Given the description of an element on the screen output the (x, y) to click on. 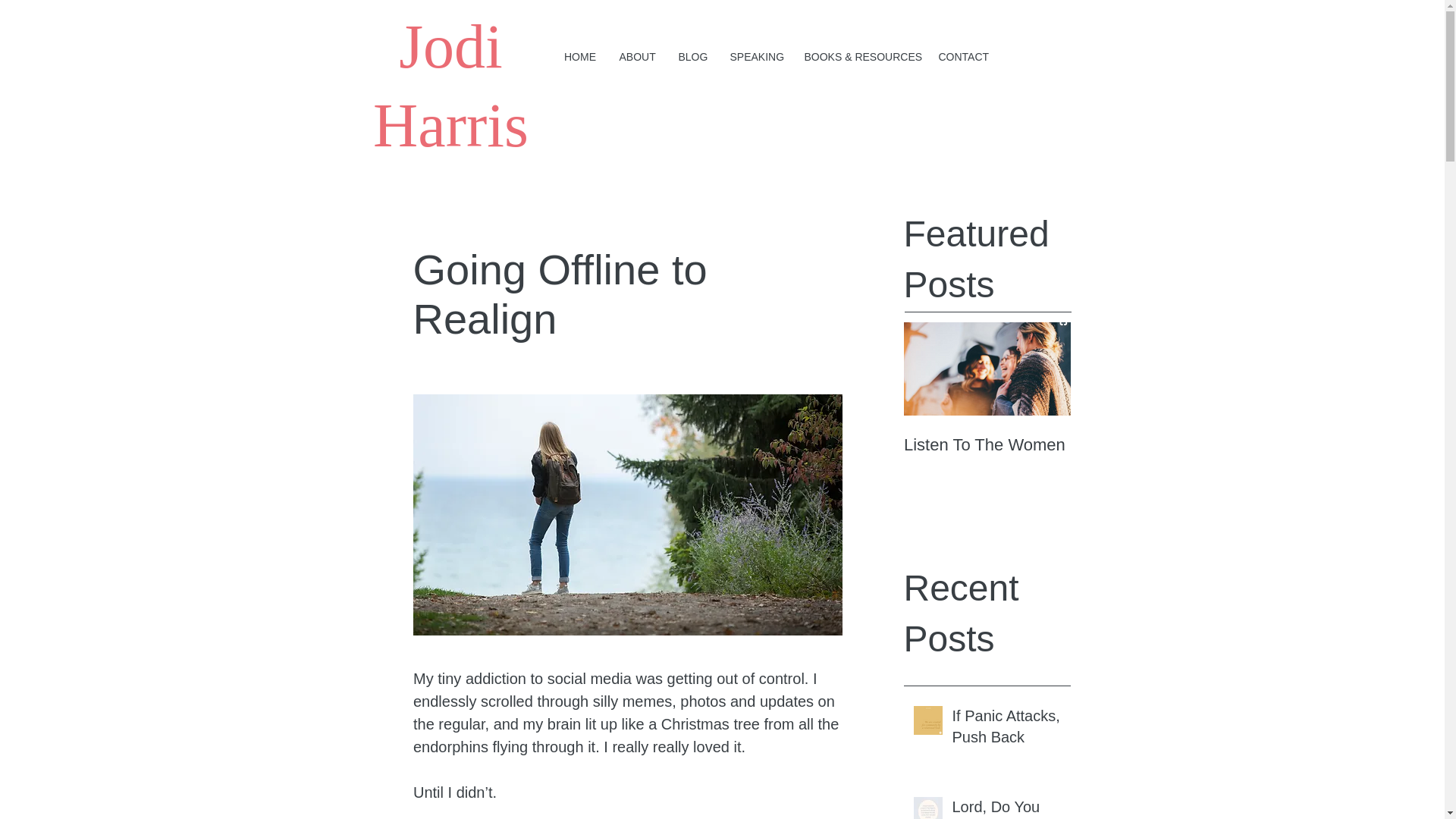
Listen To The Women (987, 444)
HOME (579, 56)
Jodi Harris (450, 84)
CONTACT (961, 56)
BLOG (692, 56)
Lord, Do You Care? (1006, 807)
SPEAKING (756, 56)
If Panic Attacks, Push Back (1006, 729)
ABOUT (637, 56)
